Given the description of an element on the screen output the (x, y) to click on. 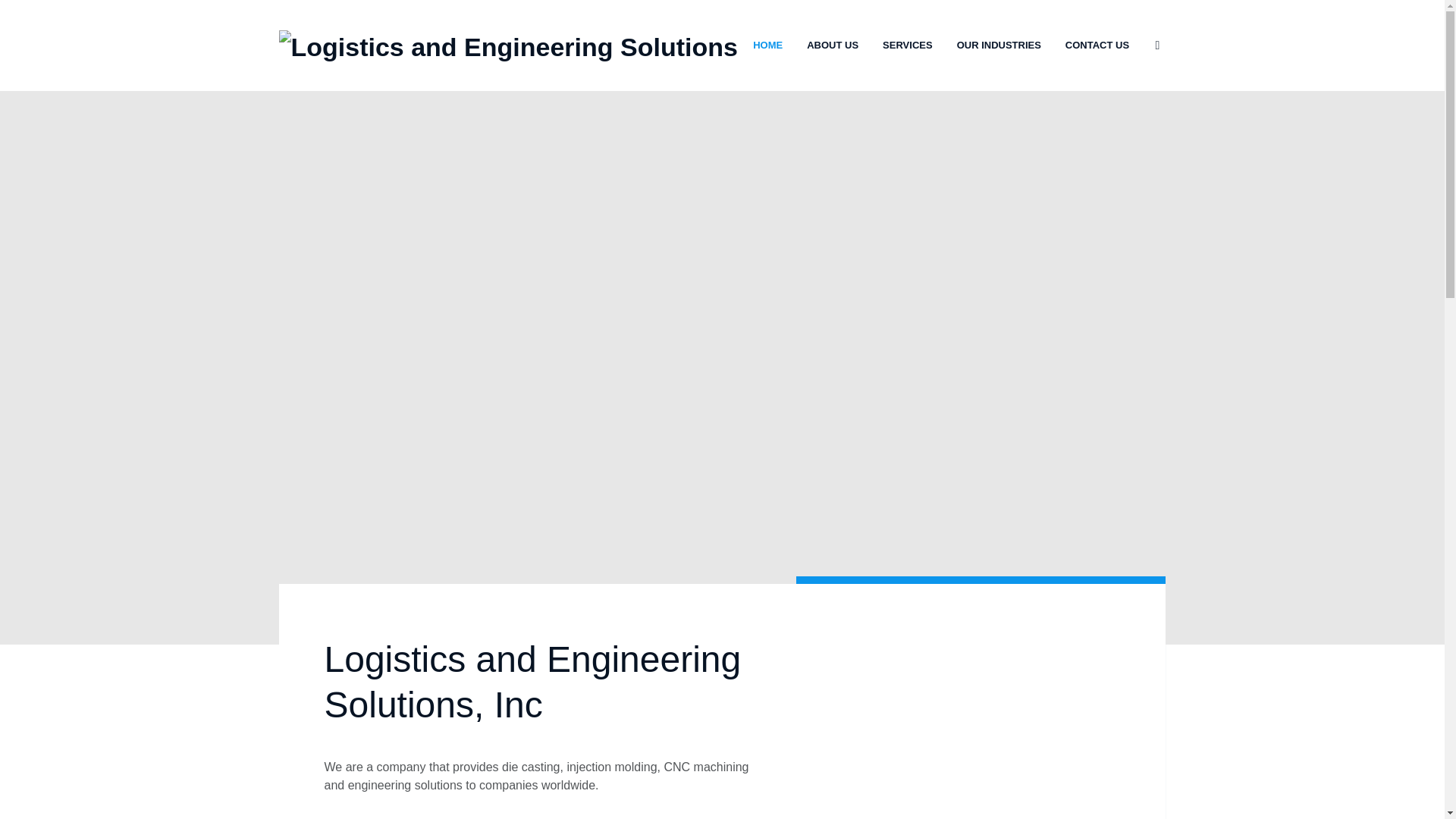
OUR INDUSTRIES (998, 45)
CONTACT US (1097, 45)
Logistics and Engineering Solutions (508, 46)
HOME (767, 45)
ABOUT US (832, 45)
SERVICES (907, 45)
